Given the description of an element on the screen output the (x, y) to click on. 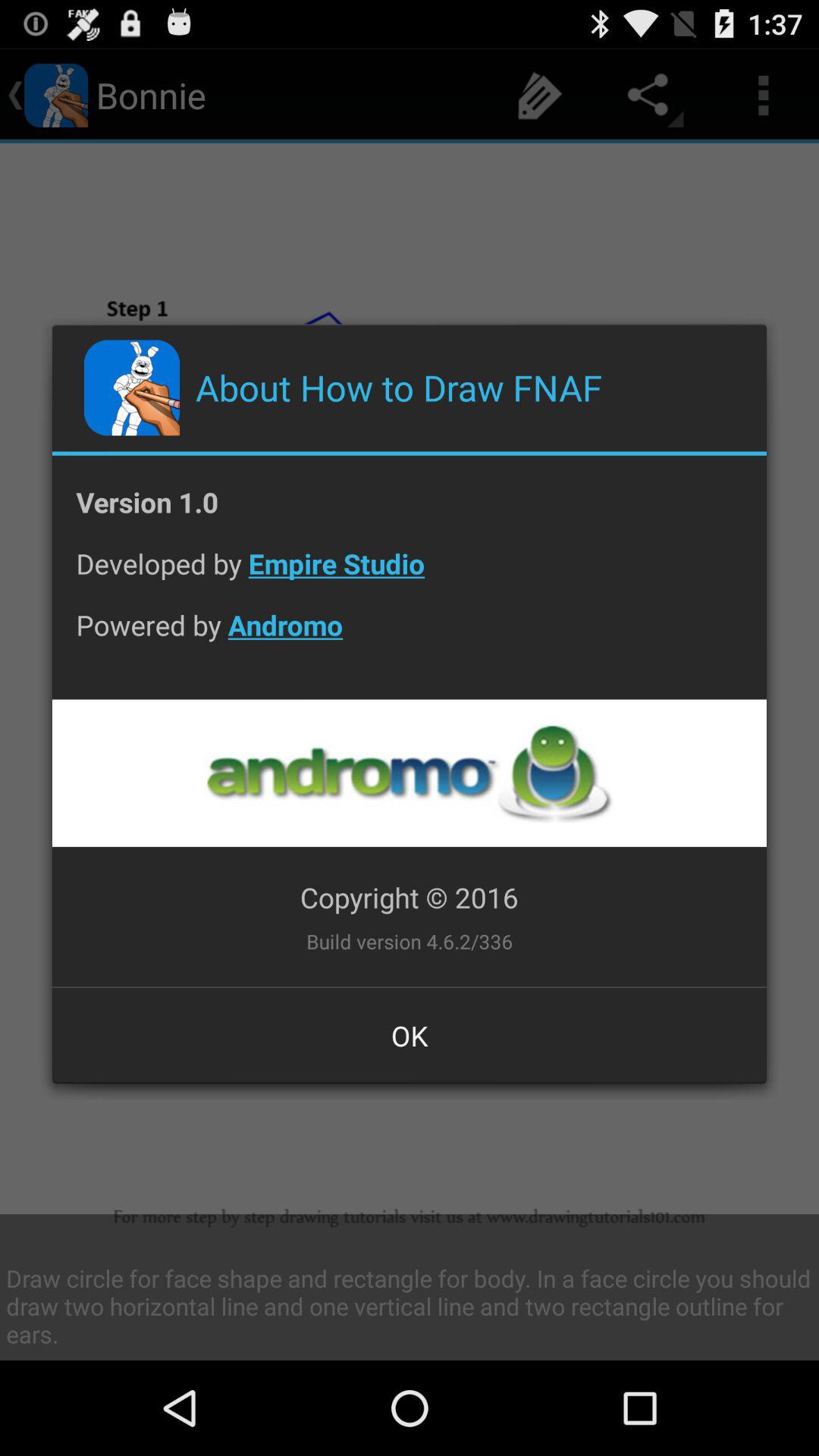
click the app below the powered by andromo icon (408, 772)
